Given the description of an element on the screen output the (x, y) to click on. 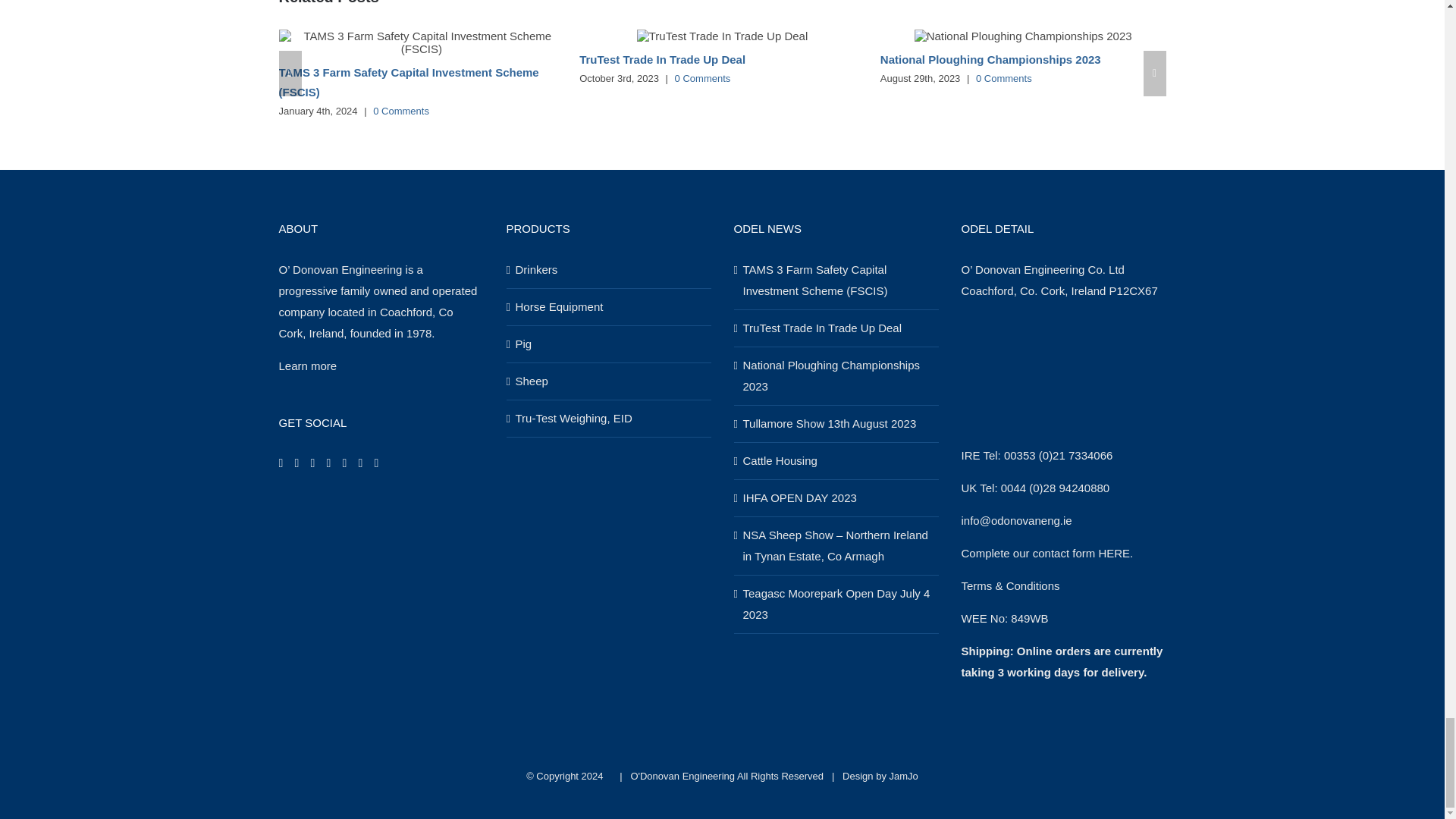
TruTest Trade In Trade Up Deal (662, 59)
National Ploughing Championships 2023 (990, 59)
